Given the description of an element on the screen output the (x, y) to click on. 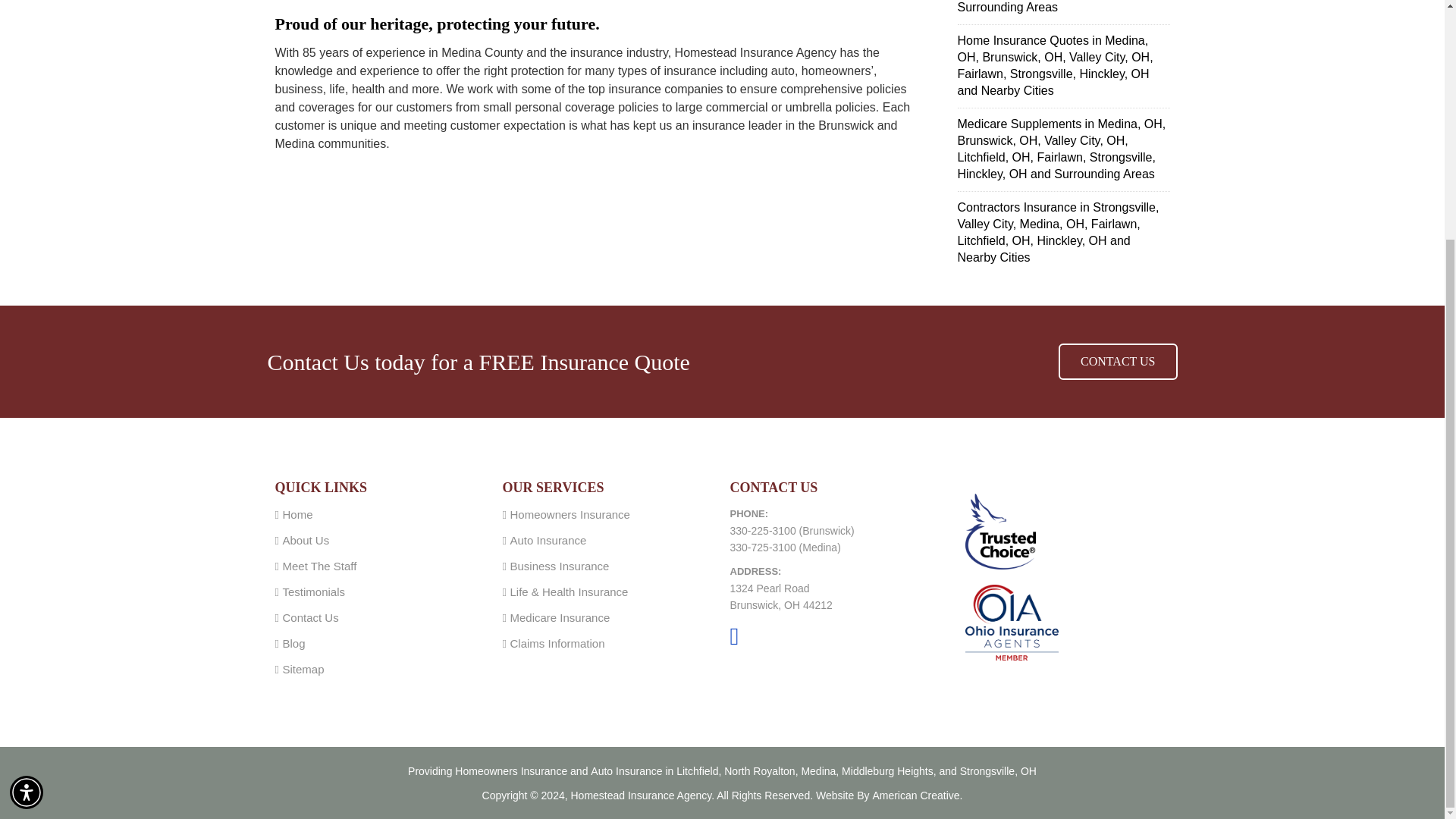
Claims Information (556, 643)
Website Design SEO Nationwide (917, 795)
Business Insurance (558, 565)
Contact Us (309, 617)
CONTACT US (1117, 361)
Home (297, 513)
Medicare Insurance (559, 617)
About Us (305, 540)
Sitemap (302, 668)
Auto Insurance (547, 540)
330-725-3100 (761, 547)
